Given the description of an element on the screen output the (x, y) to click on. 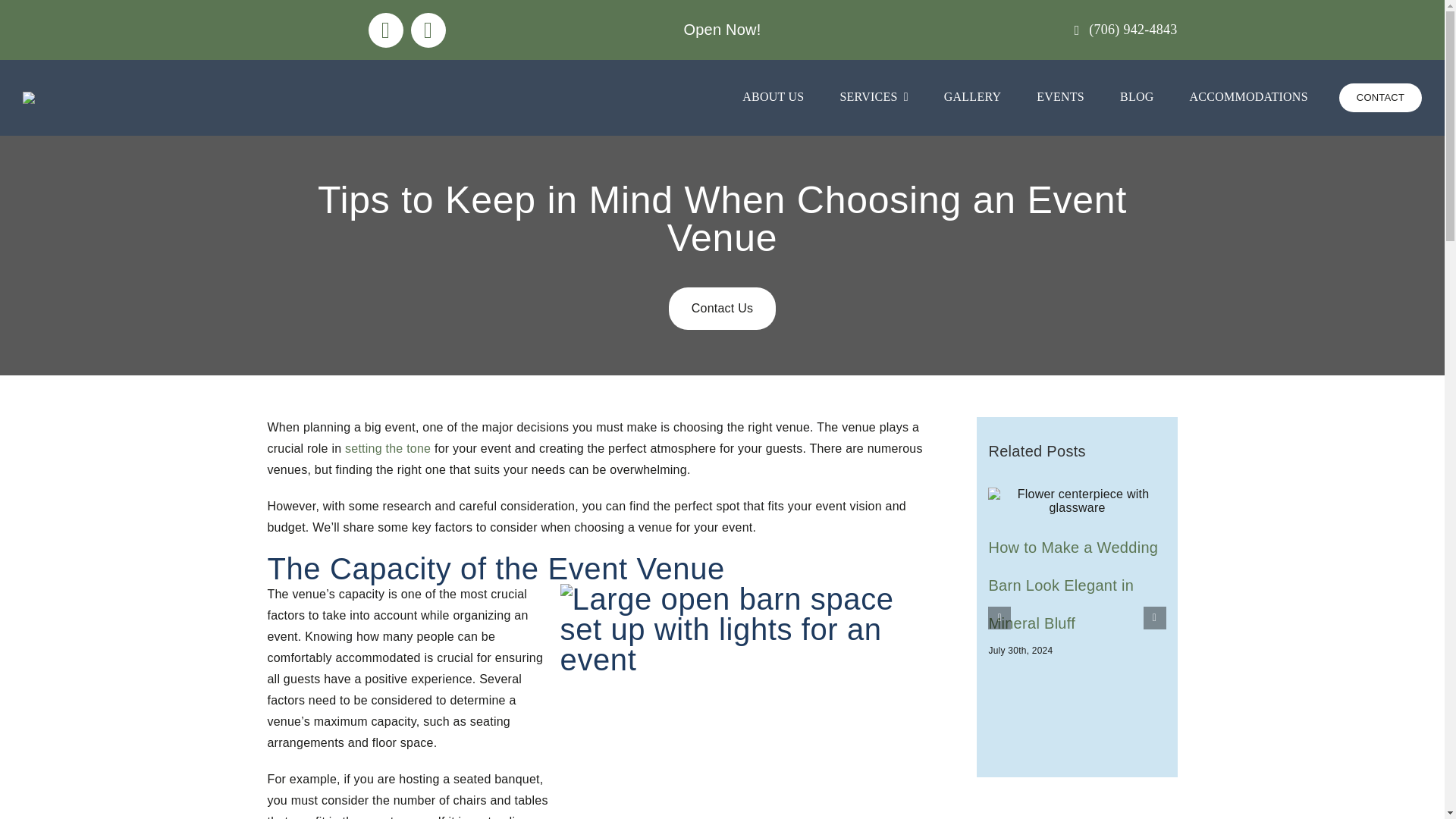
Contact Us (722, 308)
How to Make a Wedding Barn Look Elegant in Mineral Bluff (1072, 584)
setting the tone (385, 448)
Facebook (385, 29)
How to Make a Wedding Barn Look Elegant in Mineral Bluff (1072, 584)
ABOUT US (773, 97)
CONTACT (1380, 97)
Instagram (427, 29)
SERVICES (873, 97)
ACCOMMODATIONS (1249, 97)
